Given the description of an element on the screen output the (x, y) to click on. 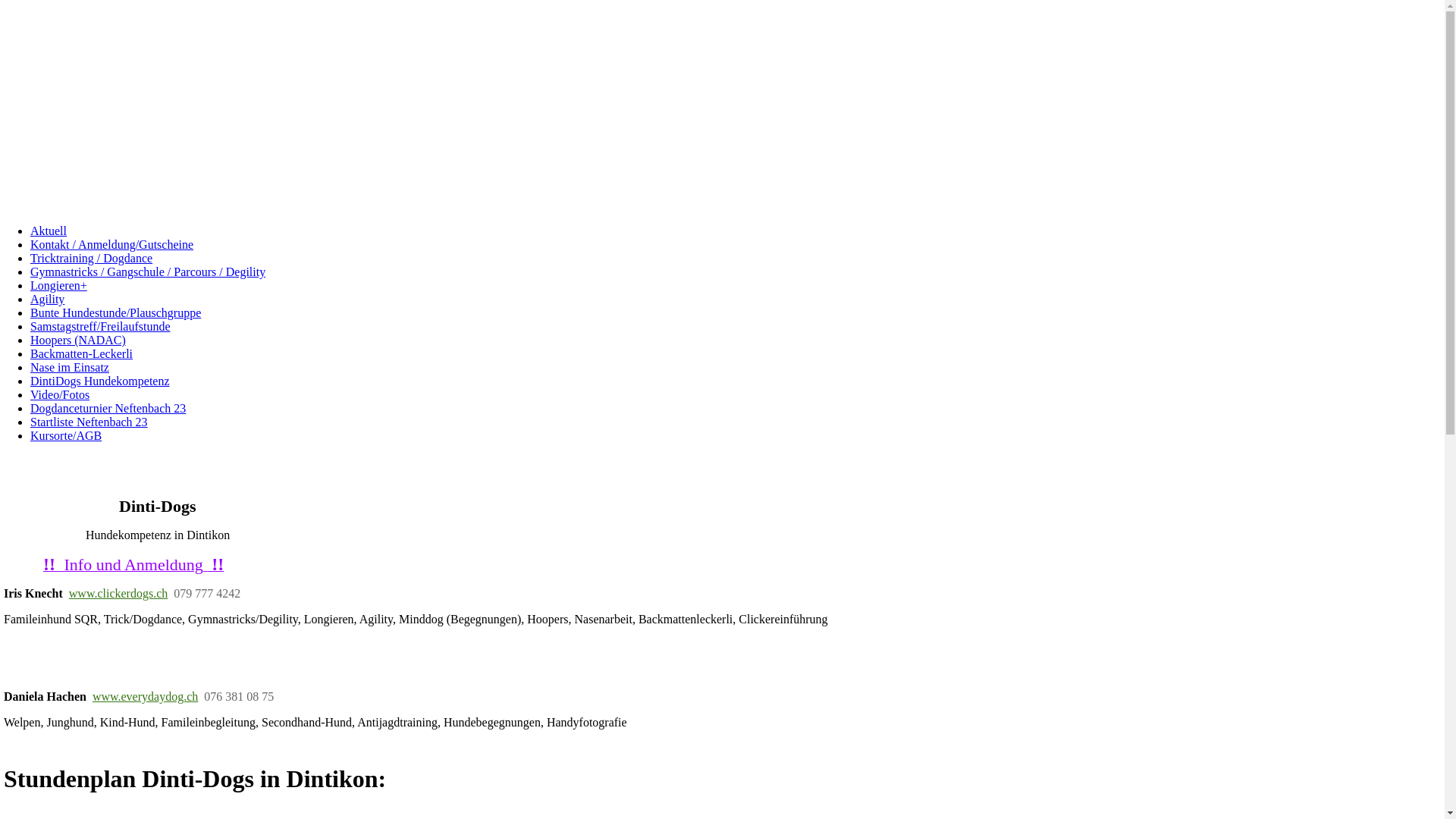
Longieren+ Element type: text (58, 285)
Kursorte/AGB Element type: text (65, 435)
DintiDogs Hundekompetenz Element type: text (99, 380)
Hoopers (NADAC) Element type: text (77, 339)
Dogdanceturnier Neftenbach 23 Element type: text (107, 407)
Gymnastricks / Gangschule / Parcours / Degility Element type: text (147, 271)
www.clickerdogs.ch Element type: text (118, 592)
Agility Element type: text (47, 298)
www.everydaydog.ch Element type: text (144, 696)
Tricktraining / Dogdance Element type: text (91, 257)
Backmatten-Leckerli Element type: text (81, 353)
Bunte Hundestunde/Plauschgruppe Element type: text (115, 312)
Video/Fotos Element type: text (59, 394)
Aktuell Element type: text (48, 230)
!!  Info und Anmeldung  !! Element type: text (133, 565)
Kontakt / Anmeldung/Gutscheine Element type: text (111, 244)
Nase im Einsatz Element type: text (69, 366)
Startliste Neftenbach 23 Element type: text (88, 421)
Samstagstreff/Freilaufstunde Element type: text (100, 326)
